Given the description of an element on the screen output the (x, y) to click on. 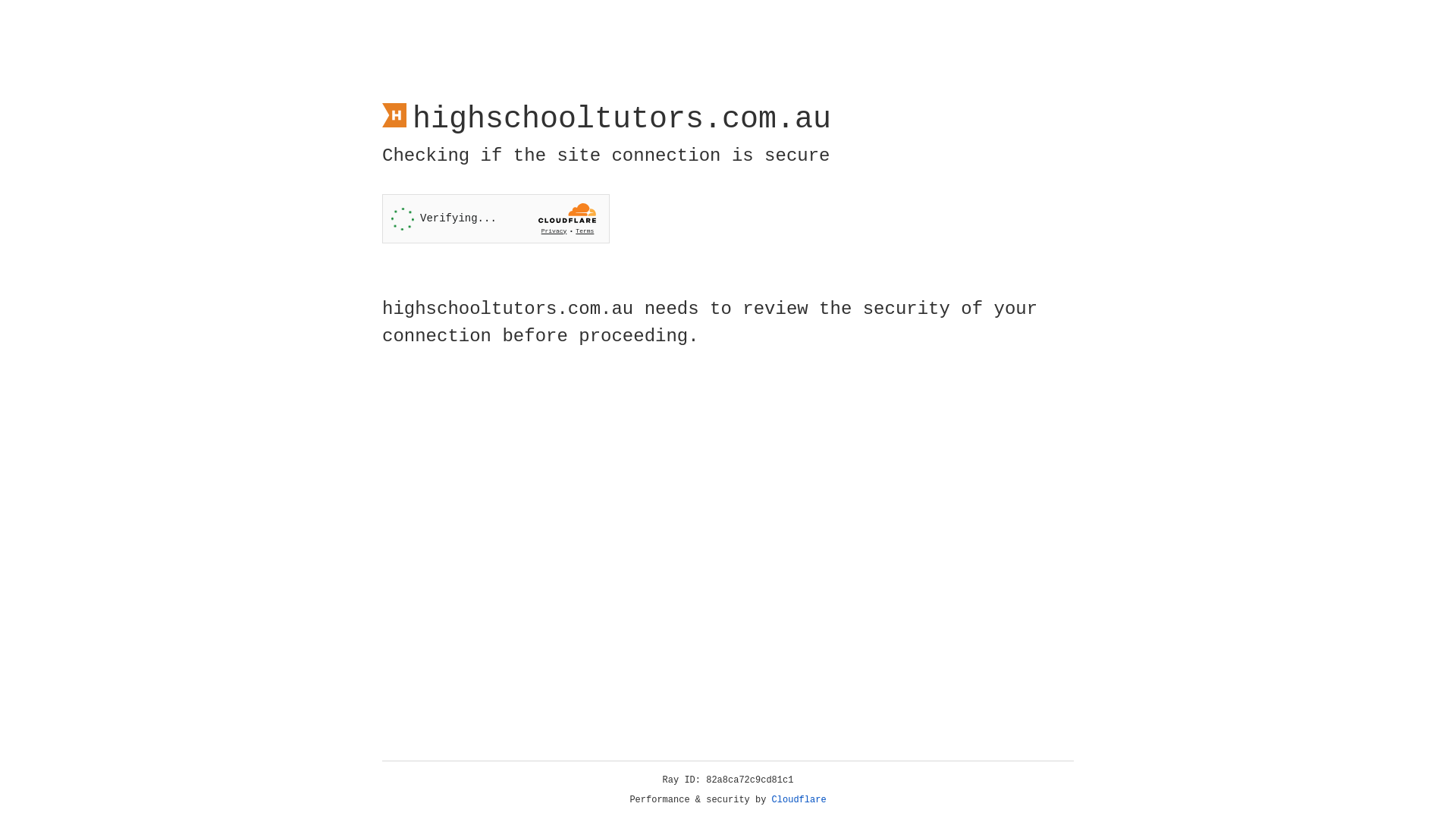
Cloudflare Element type: text (798, 799)
Widget containing a Cloudflare security challenge Element type: hover (495, 218)
